Given the description of an element on the screen output the (x, y) to click on. 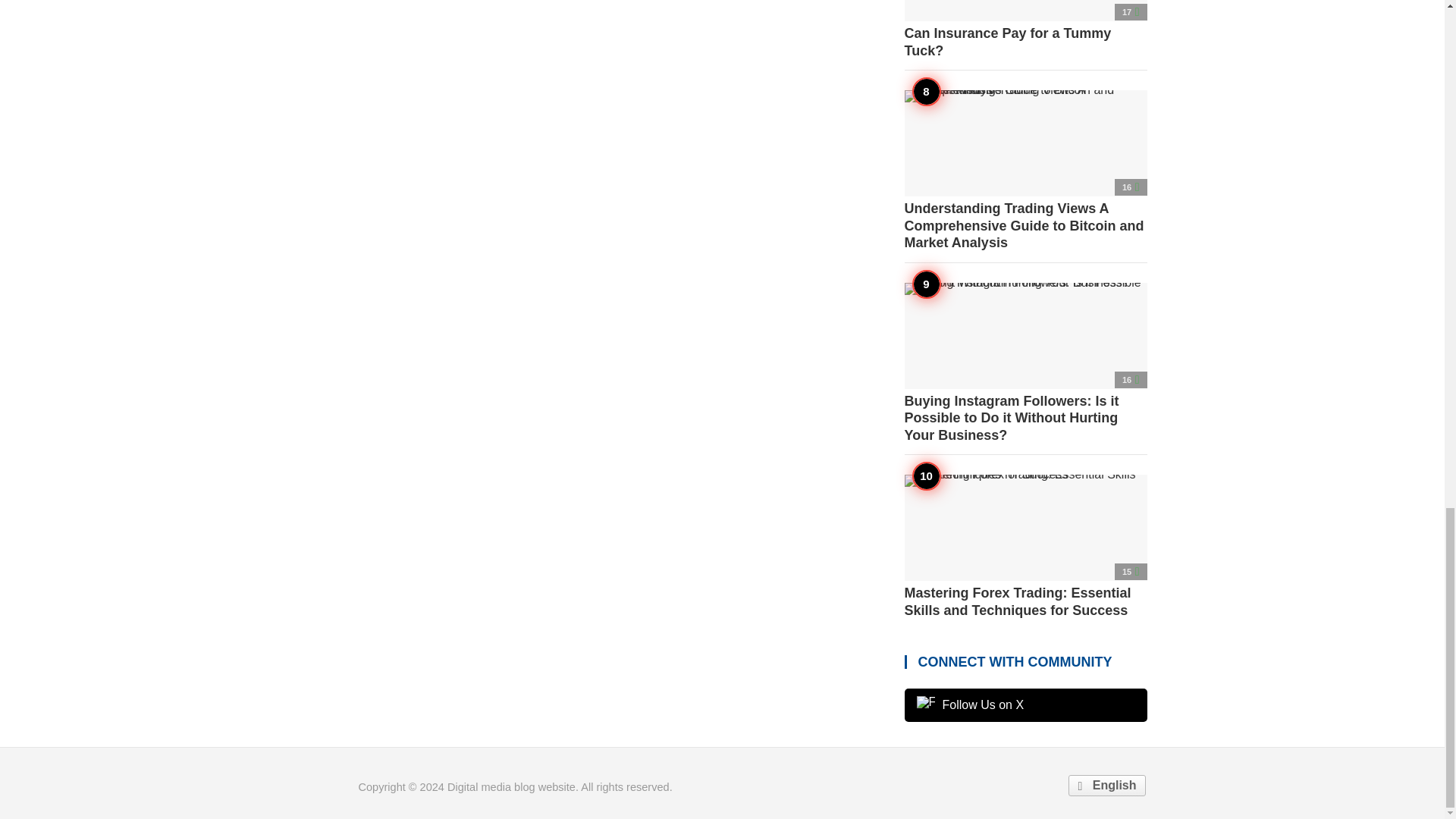
Can Insurance Pay for a Tummy Tuck? (1025, 29)
